Given the description of an element on the screen output the (x, y) to click on. 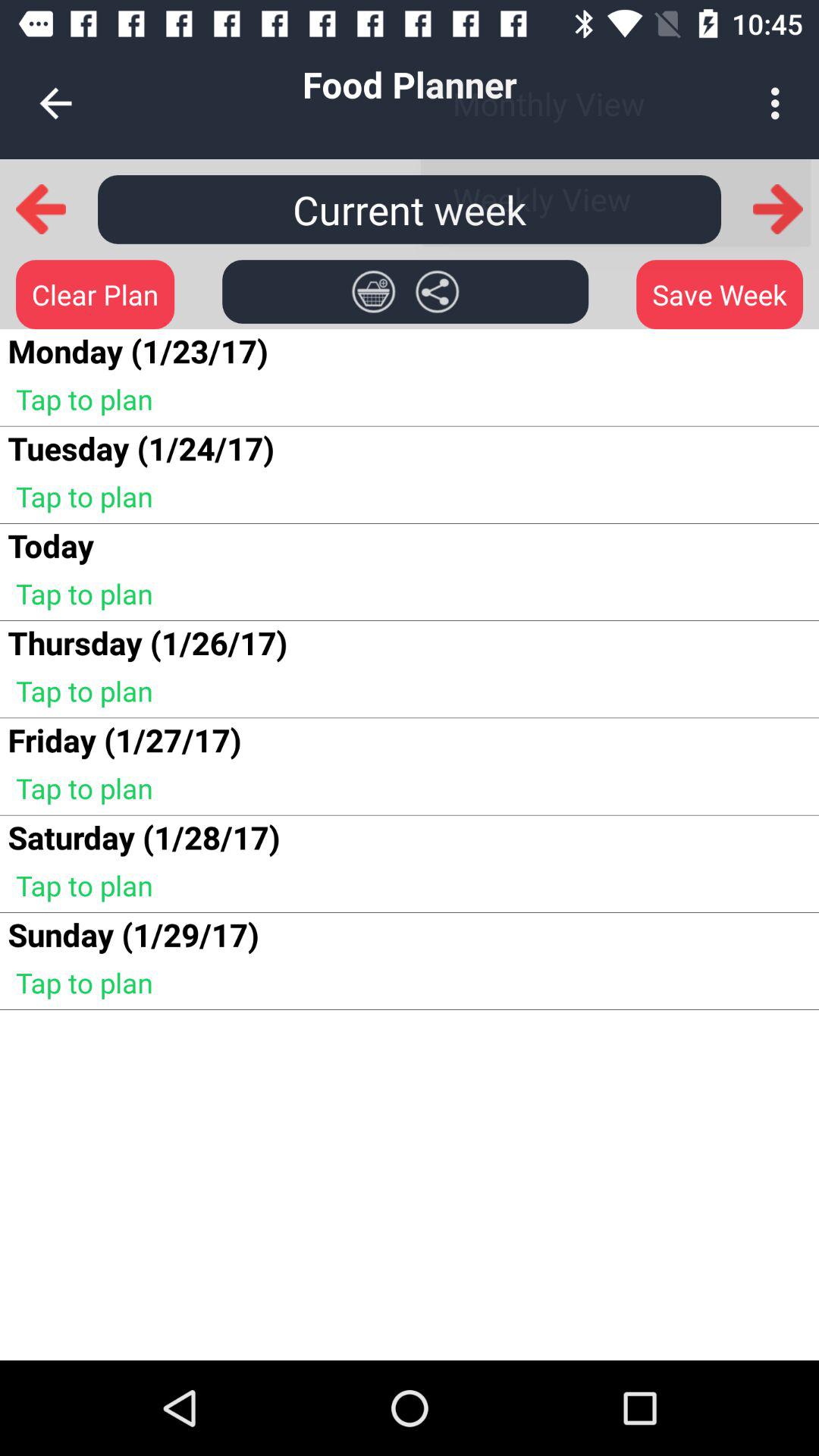
press item below the current week icon (373, 291)
